Given the description of an element on the screen output the (x, y) to click on. 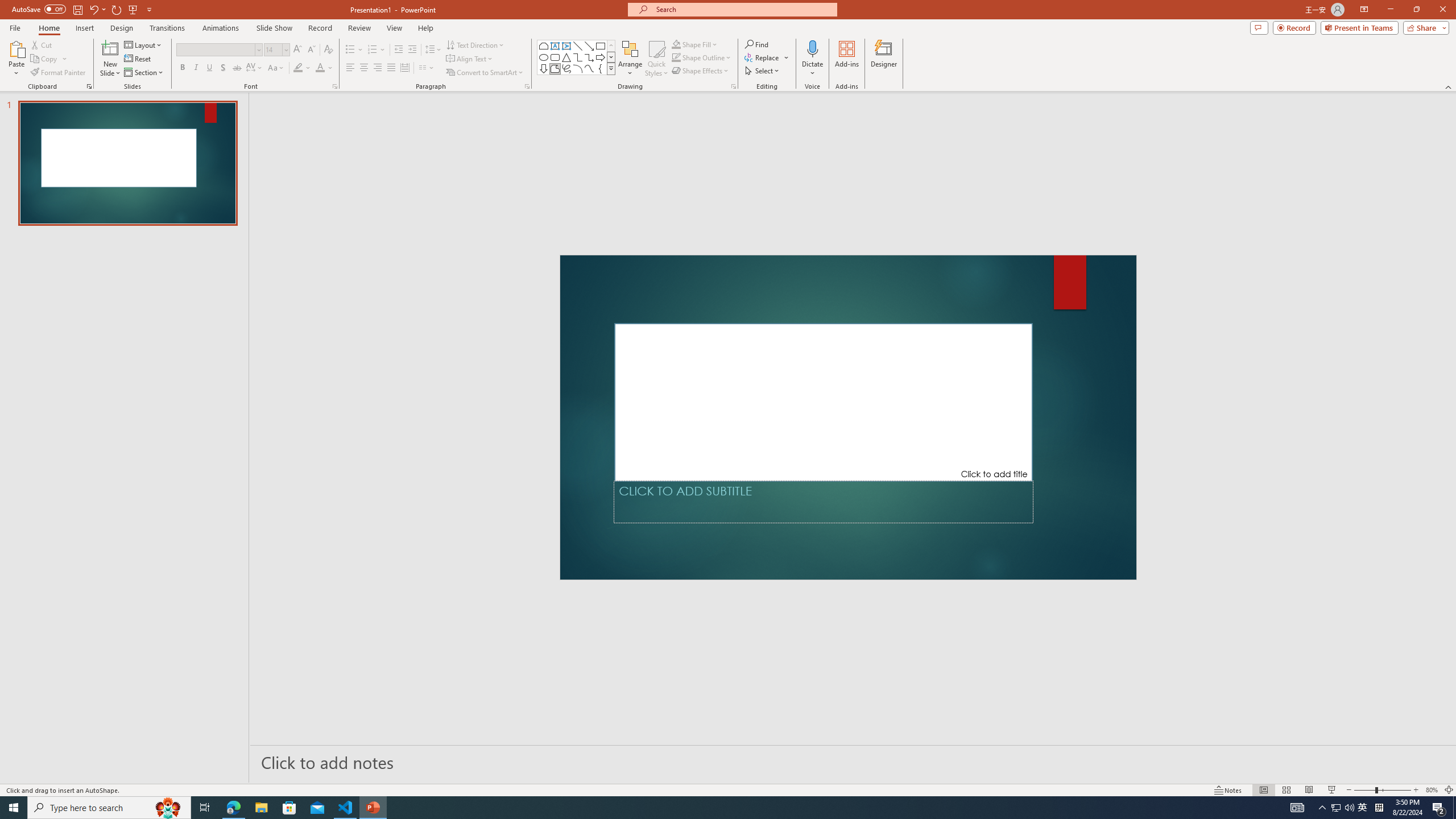
Decrease Font Size (310, 49)
Font Color (324, 67)
Section (144, 72)
Zoom 80% (1431, 790)
Rectangle (600, 45)
Text Direction (476, 44)
Align Right (377, 67)
Curve (589, 68)
